Given the description of an element on the screen output the (x, y) to click on. 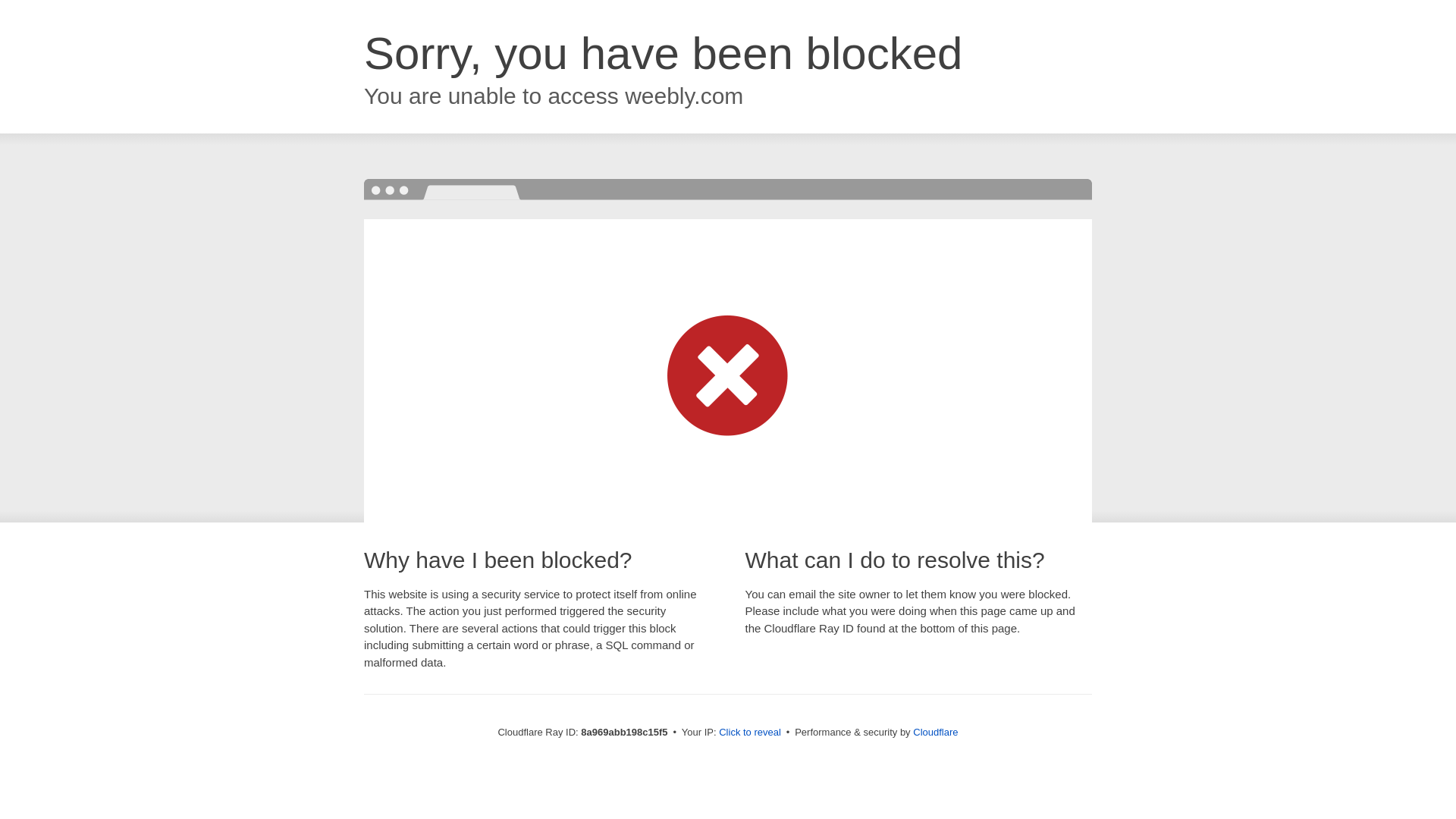
Click to reveal (749, 732)
Cloudflare (935, 731)
